Given the description of an element on the screen output the (x, y) to click on. 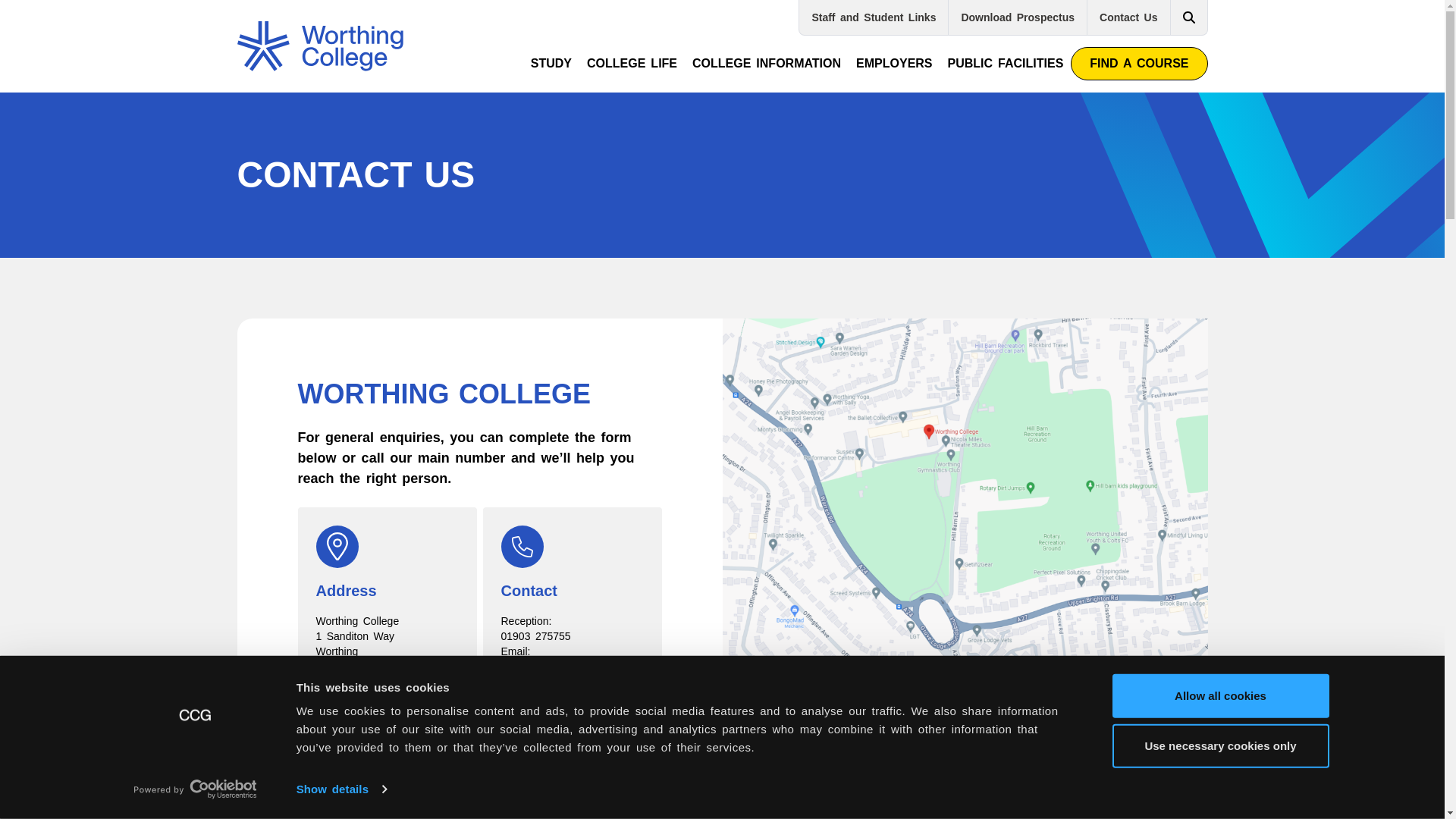
Allow all cookies (1219, 696)
Use necessary cookies only (1219, 745)
Show details (342, 789)
